Given the description of an element on the screen output the (x, y) to click on. 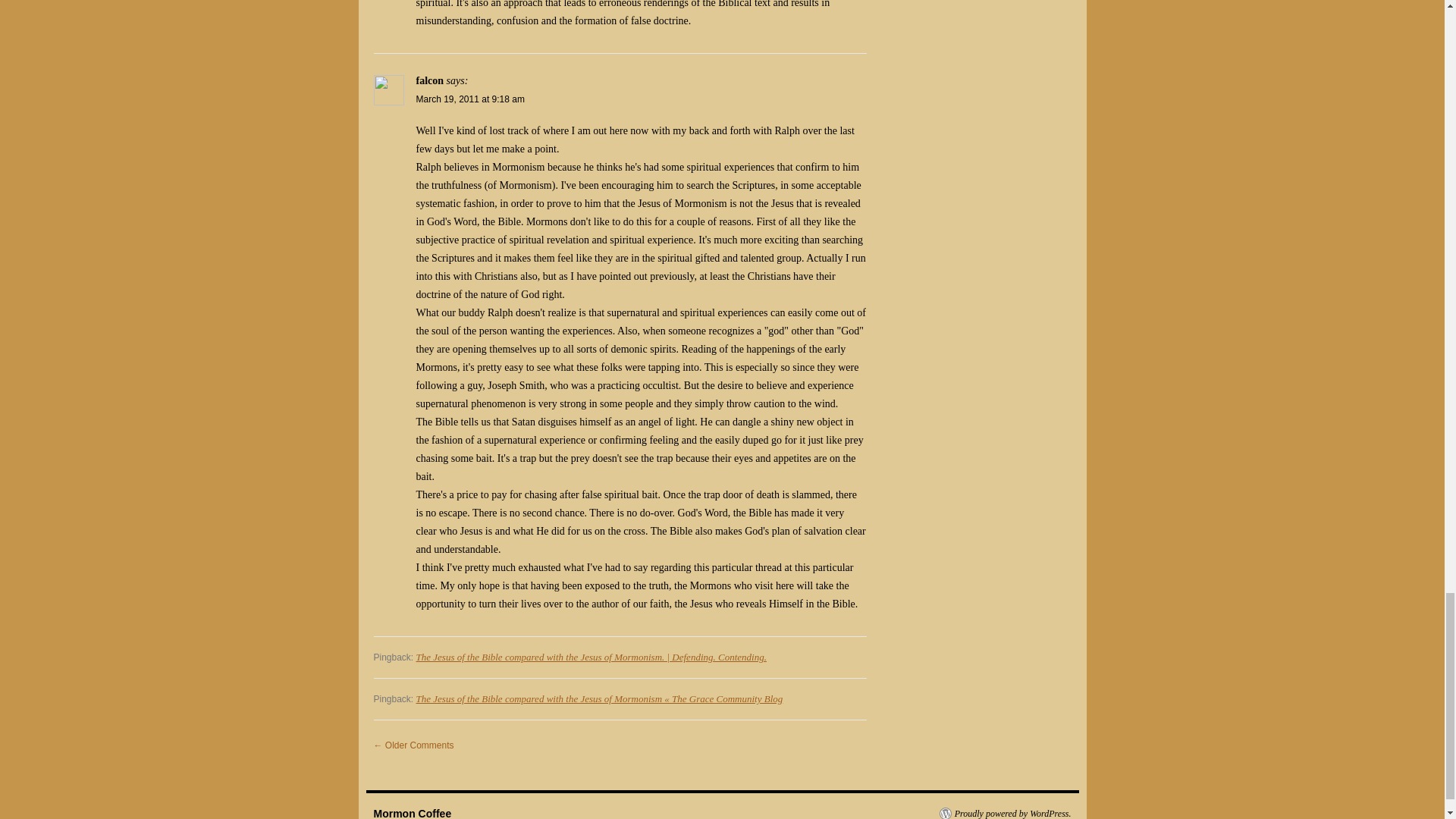
March 19, 2011 at 9:18 am (469, 99)
